Given the description of an element on the screen output the (x, y) to click on. 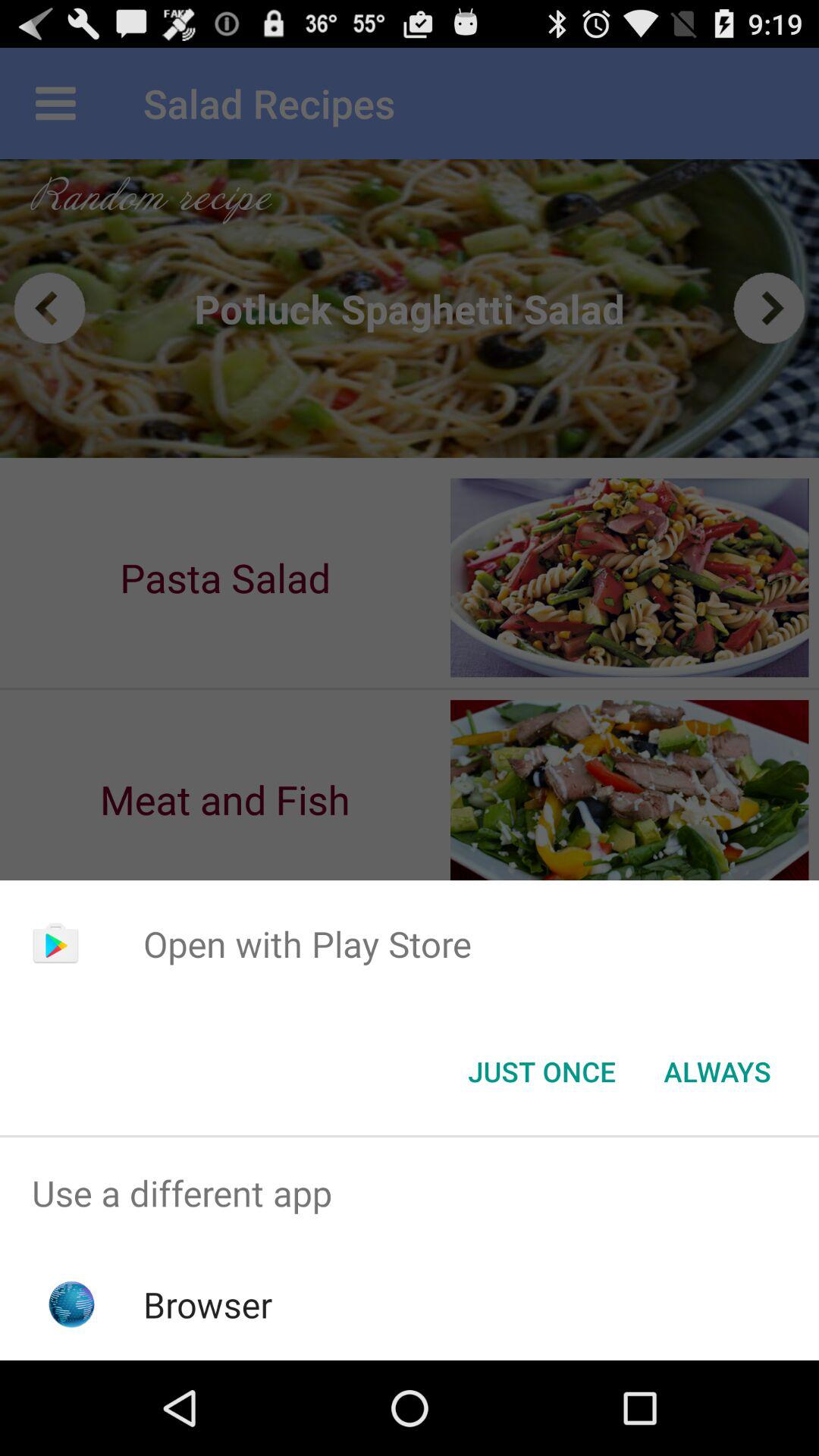
tap the icon at the bottom right corner (717, 1071)
